Given the description of an element on the screen output the (x, y) to click on. 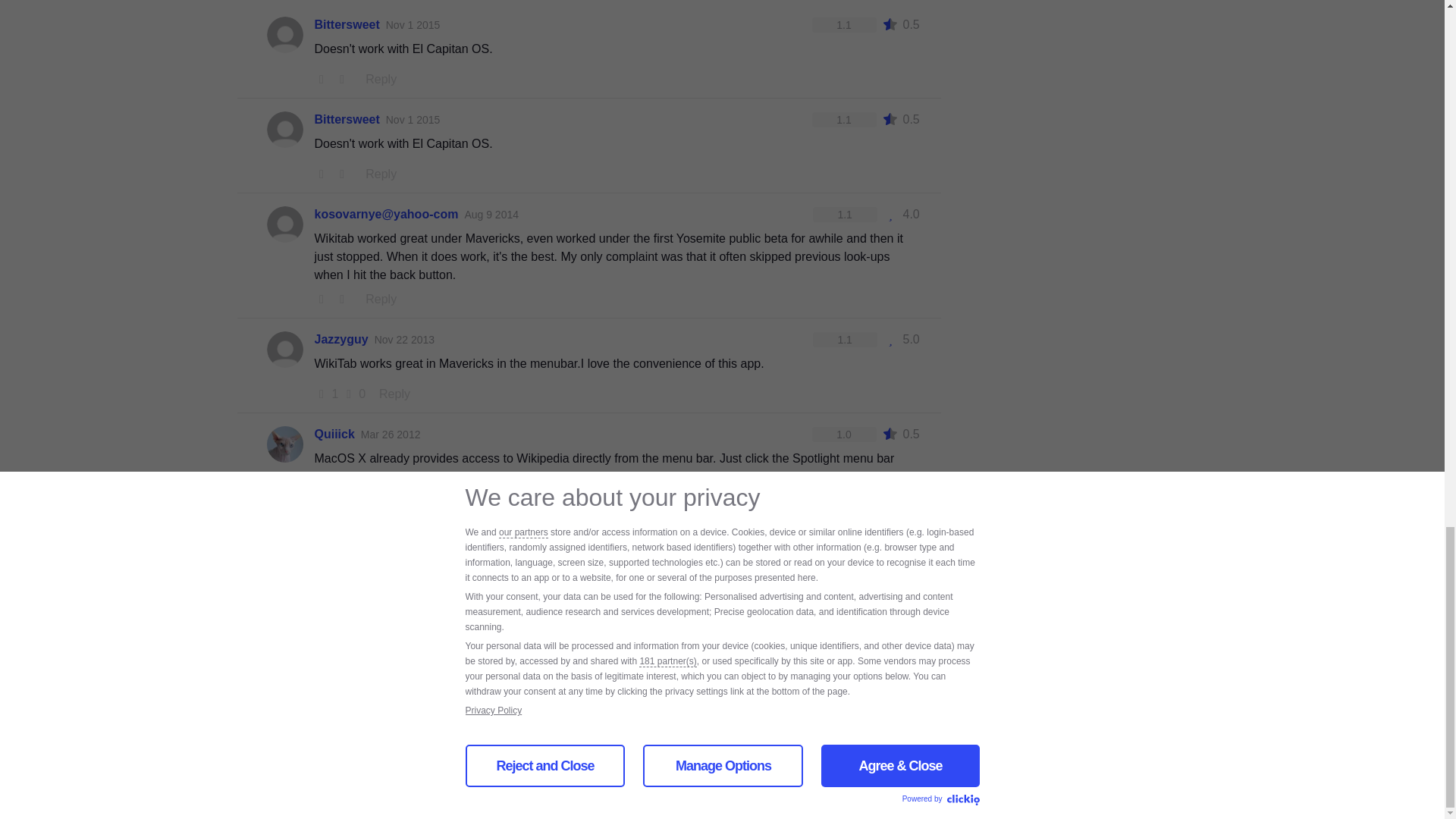
Bittersweet (346, 24)
Bittersweet (346, 119)
Jazzyguy (341, 339)
Version: 1.1 (843, 24)
Version: 1.1 (844, 214)
Version: 1.1 (844, 339)
Version: 1.1 (843, 119)
Quiiick (333, 434)
Version: 1.0 (843, 434)
